Given the description of an element on the screen output the (x, y) to click on. 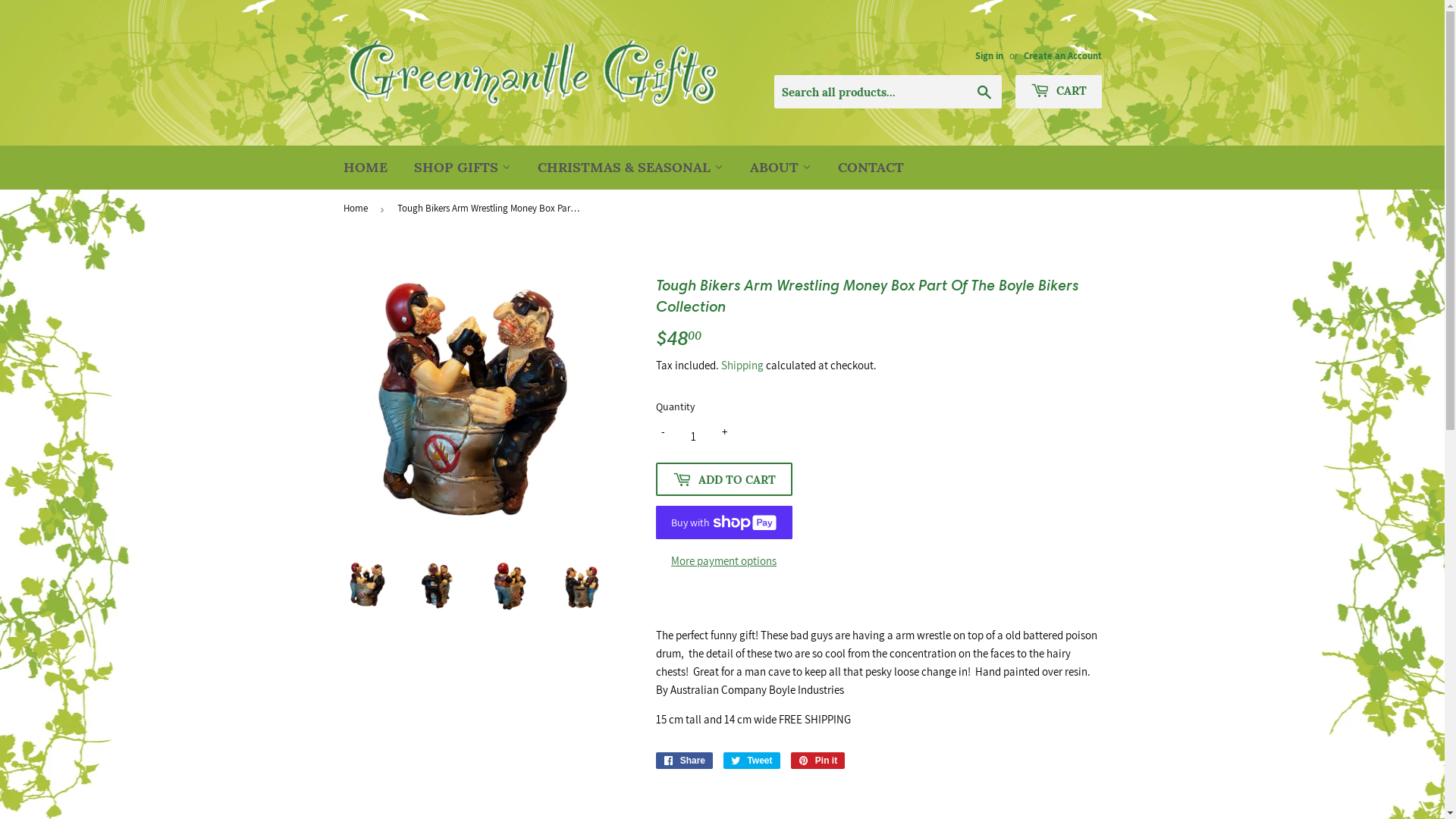
CONTACT Element type: text (870, 167)
More payment options Element type: text (723, 561)
SHOP GIFTS Element type: text (461, 167)
ADD TO CART Element type: text (723, 478)
CART Element type: text (1057, 91)
HOME Element type: text (365, 167)
Create an Account Element type: text (1062, 55)
Share
Share on Facebook Element type: text (683, 760)
ABOUT Element type: text (780, 167)
Pin it
Pin on Pinterest Element type: text (817, 760)
Sign in Element type: text (989, 55)
Tweet
Tweet on Twitter Element type: text (751, 760)
Search Element type: text (984, 92)
Home Element type: text (357, 208)
CHRISTMAS & SEASONAL Element type: text (630, 167)
Shipping Element type: text (741, 364)
